Given the description of an element on the screen output the (x, y) to click on. 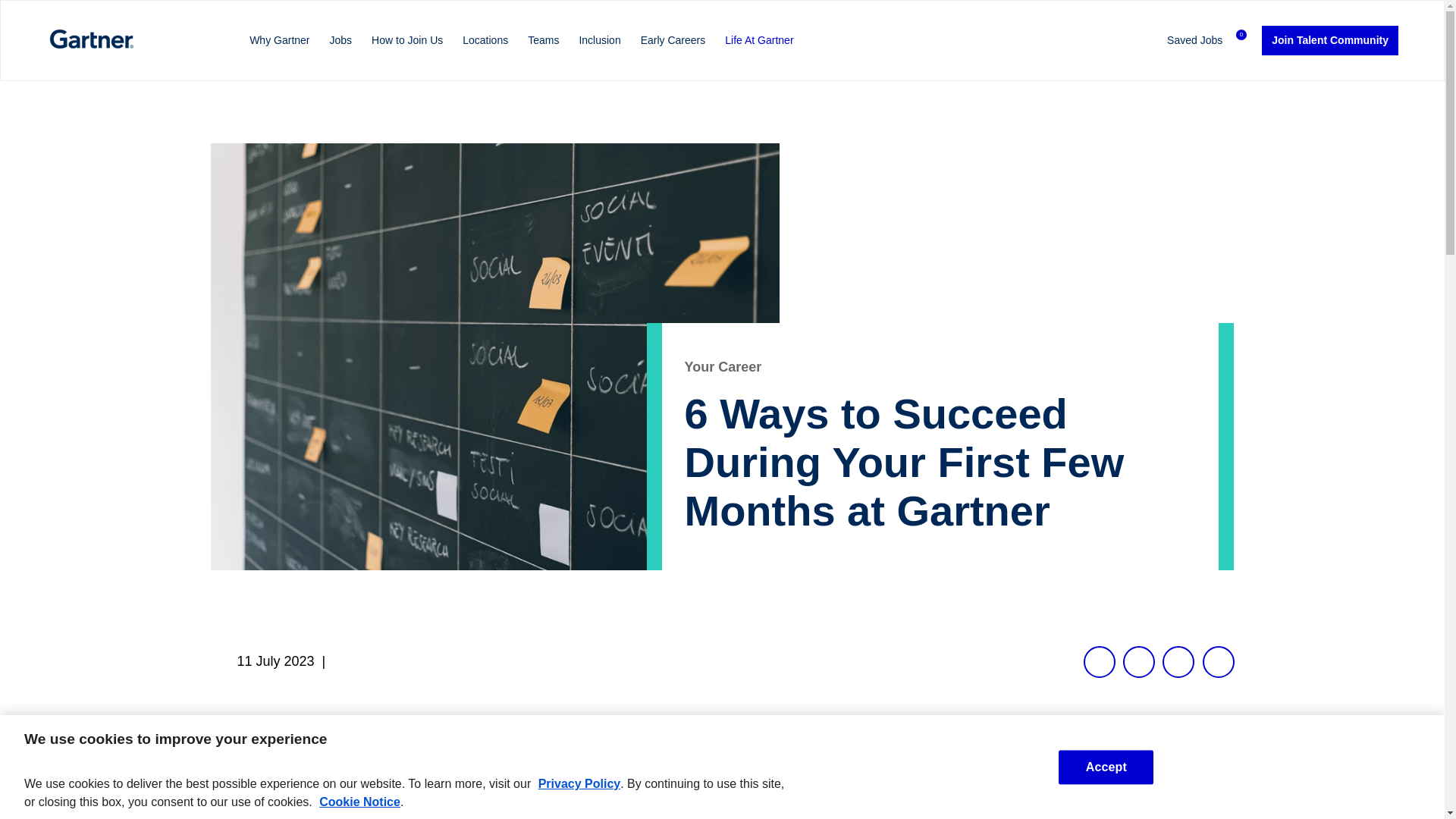
Jobs (341, 40)
Why Gartner (279, 40)
How to Join Us (407, 40)
Teams (543, 40)
Locations (485, 40)
